Given the description of an element on the screen output the (x, y) to click on. 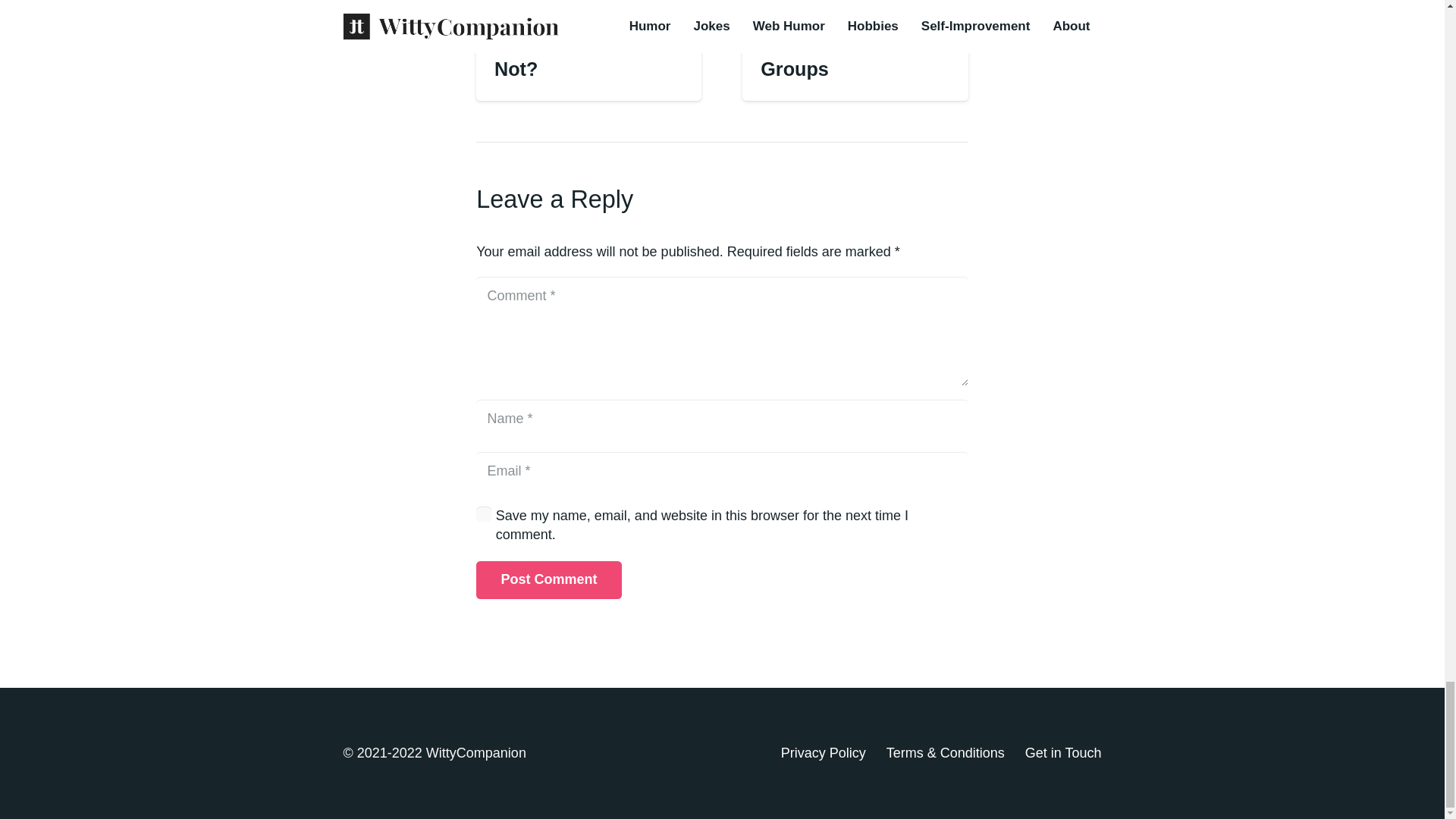
Privacy Policy (823, 752)
Post Comment (548, 579)
1 (484, 514)
Can Confidence Be Taught? Are We Born Confident or Not? (582, 39)
Get in Touch (1063, 752)
